Given the description of an element on the screen output the (x, y) to click on. 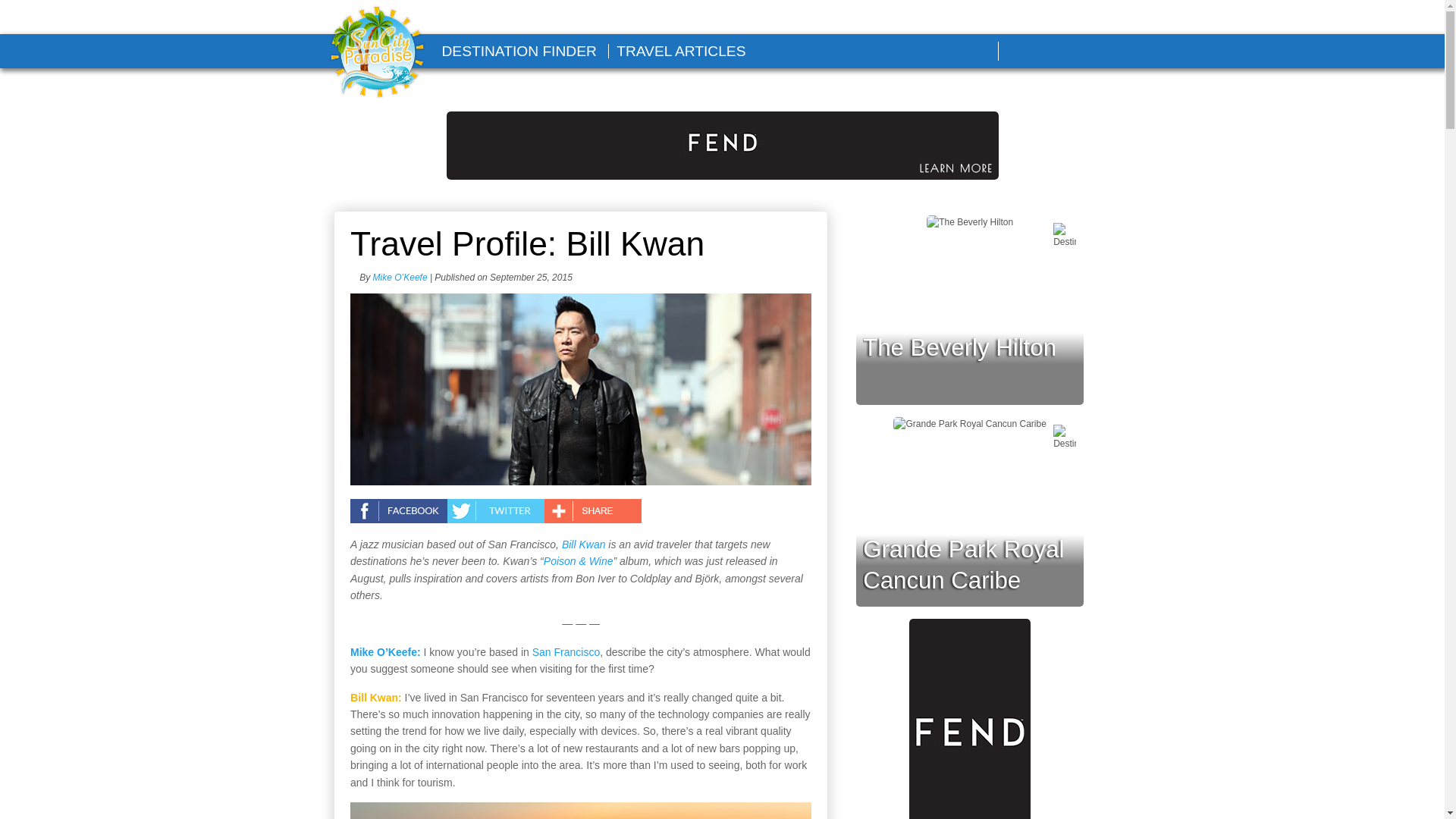
TRAVEL ARTICLES (680, 50)
Grande Park Royal Cancun Caribe (963, 564)
Destination Finder (518, 50)
SunCity Paradise (376, 53)
Bill Kwan: (375, 697)
The Beverly Hilton (960, 347)
Twitter (1061, 51)
San Francisco (565, 652)
Travel Articles (680, 50)
Bill Kwan (583, 544)
Instagram (1096, 51)
Facebook (1026, 51)
DESTINATION FINDER (518, 50)
